Given the description of an element on the screen output the (x, y) to click on. 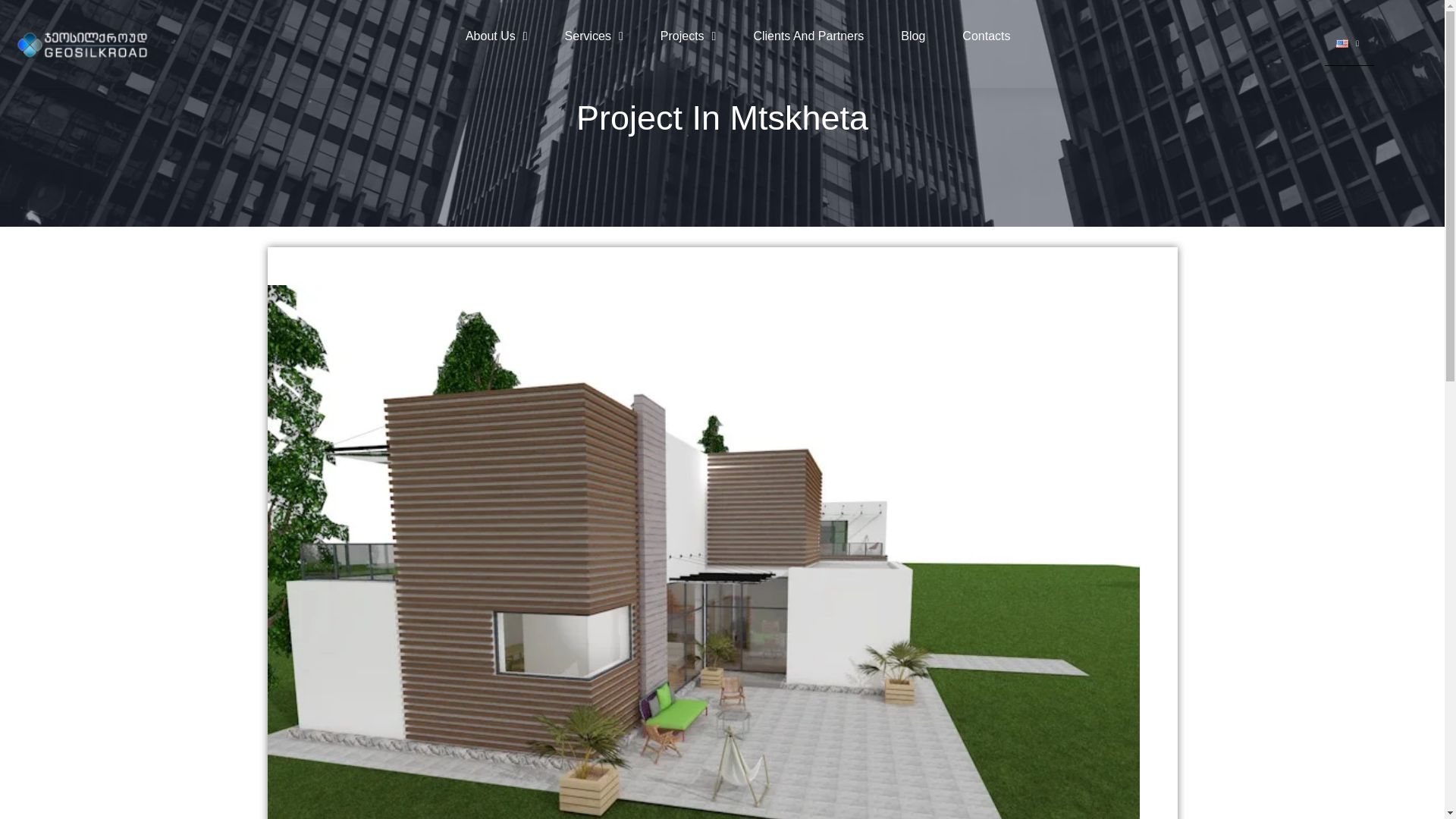
Services (593, 36)
Blog (912, 36)
Clients And Partners (807, 36)
Projects (688, 36)
Contacts (986, 36)
About Us (496, 36)
